Given the description of an element on the screen output the (x, y) to click on. 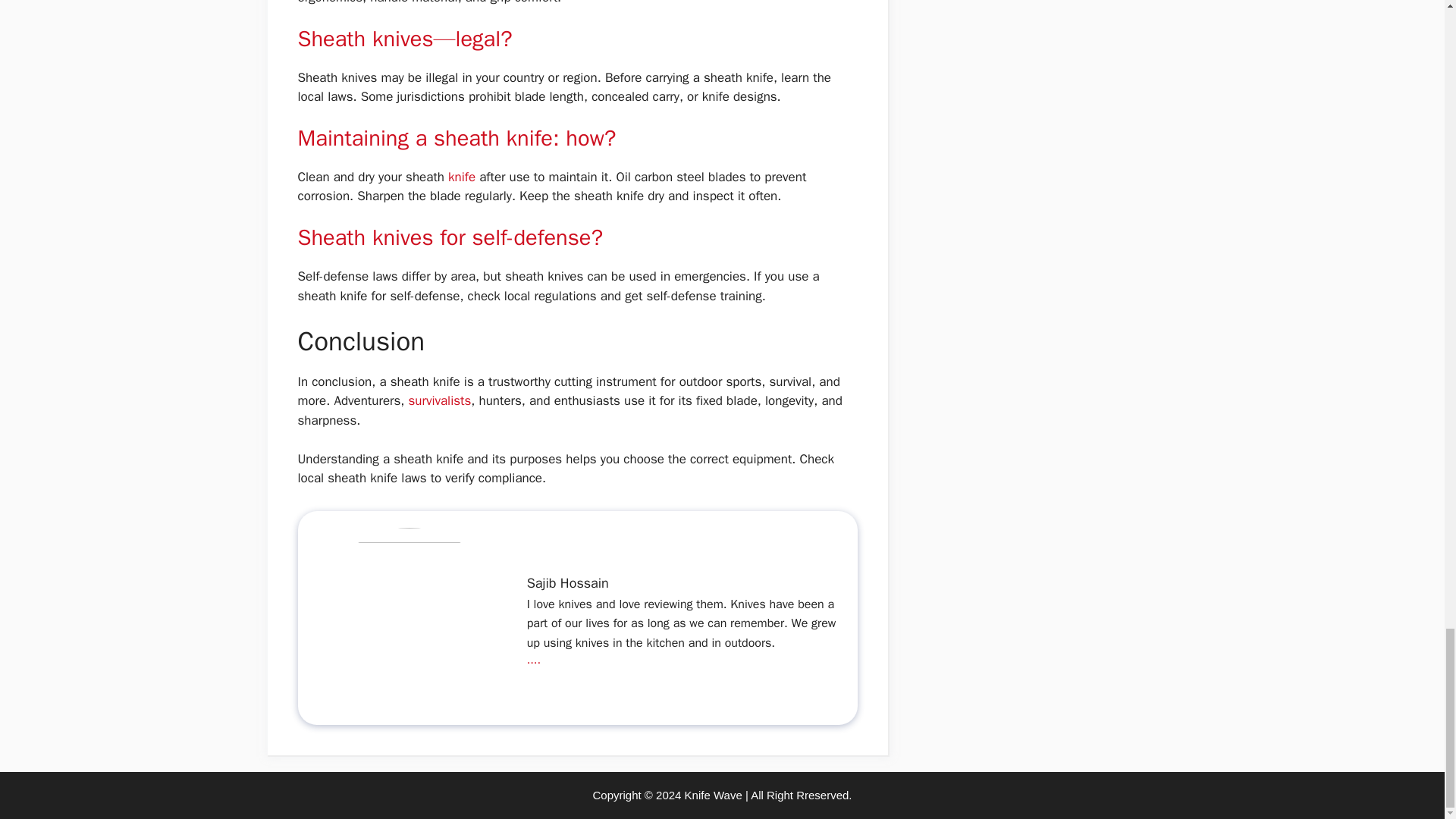
Read more about this author (533, 659)
survivalists (438, 400)
knife (463, 176)
.... (533, 659)
